Given the description of an element on the screen output the (x, y) to click on. 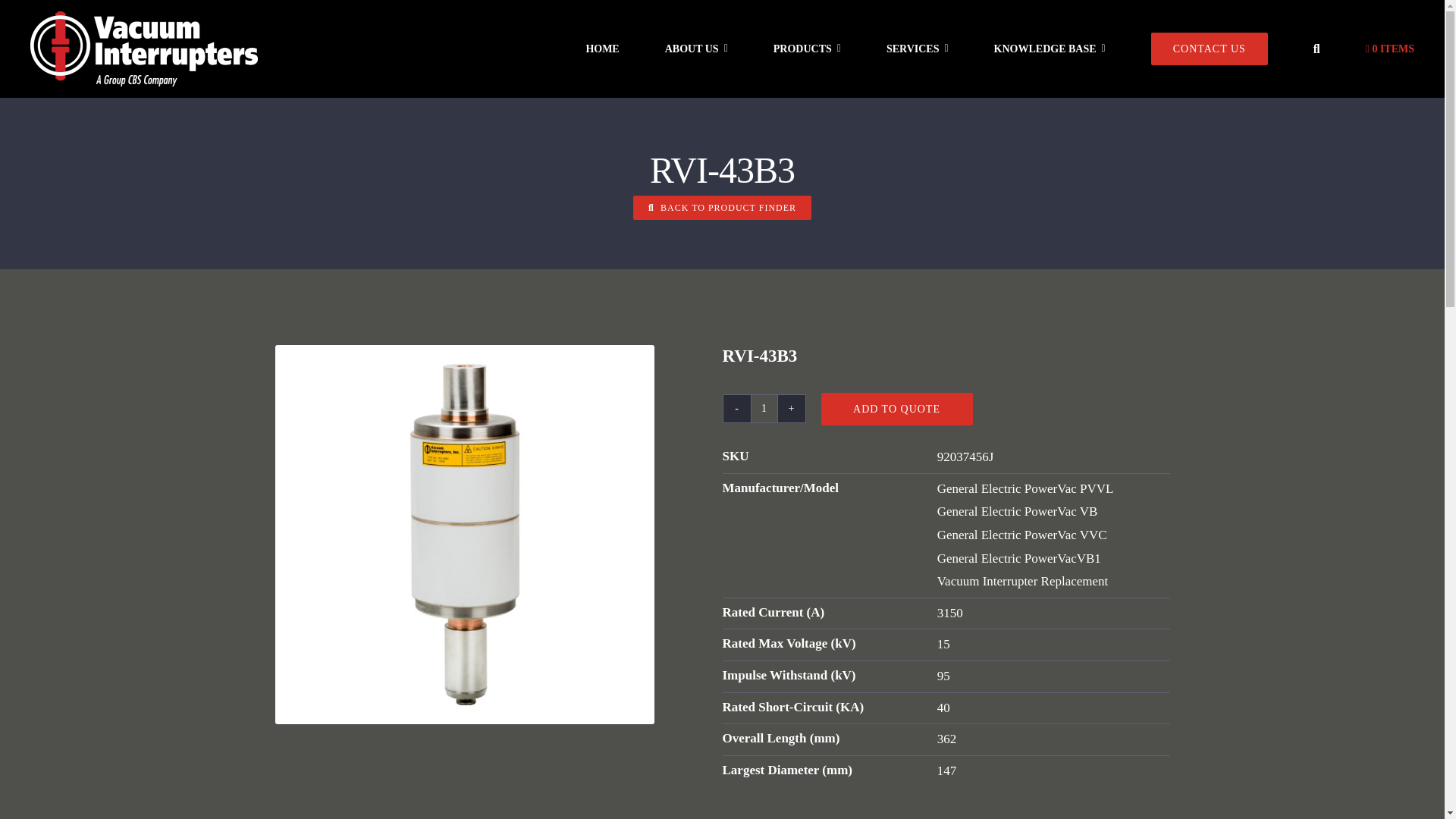
- (737, 408)
PRODUCTS (807, 48)
SERVICES (917, 48)
0 ITEMS (1389, 48)
43B3-vacuum-interrupter-replacement (464, 355)
CONTACT US (1209, 48)
KNOWLEDGE BASE (1049, 48)
HOME (602, 48)
Start shopping (1389, 48)
ABOUT US (696, 48)
1 (764, 408)
